Given the description of an element on the screen output the (x, y) to click on. 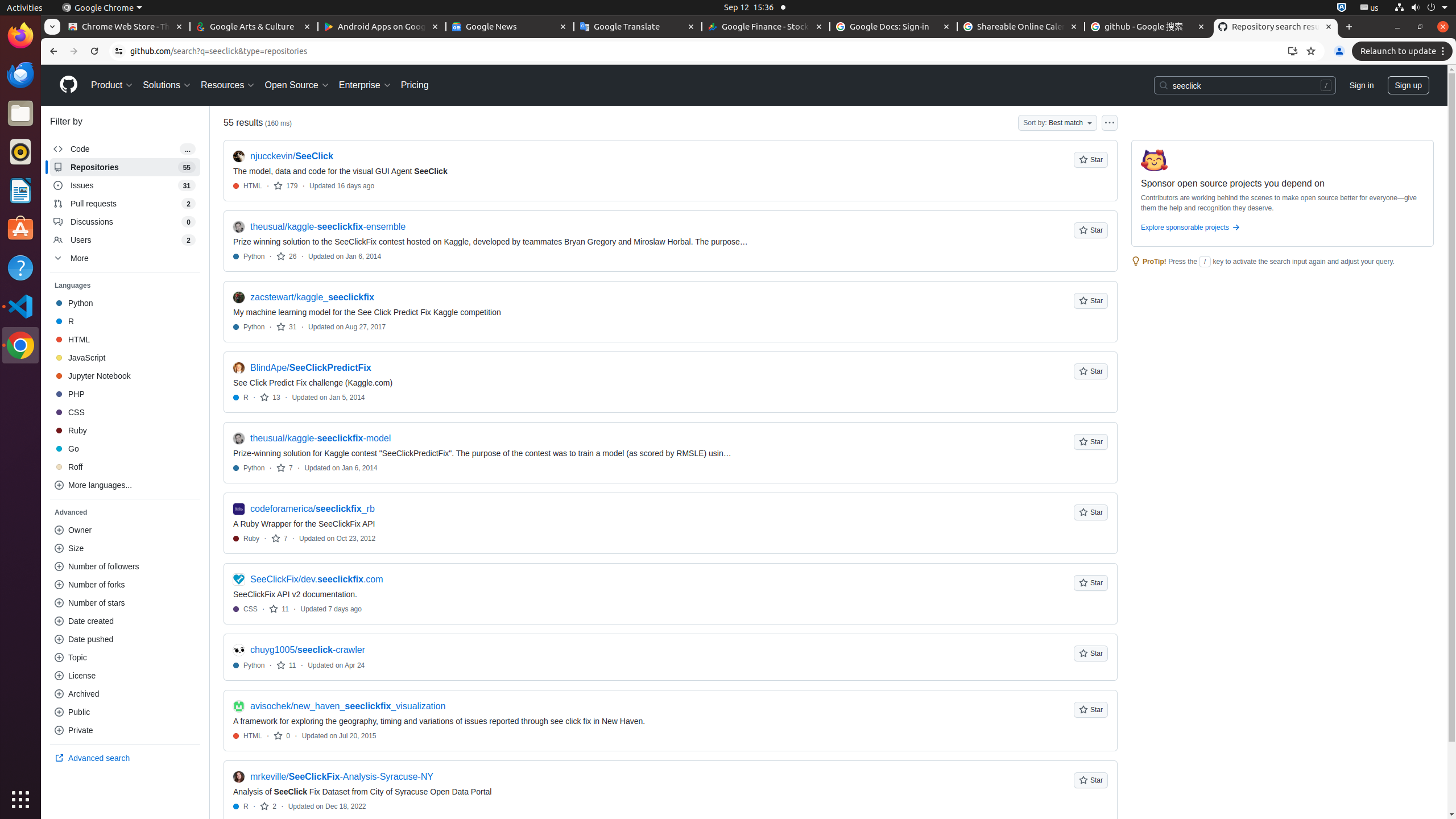
System Element type: menu (1420, 7)
You Element type: push-button (1339, 50)
Advanced search Element type: link (125, 758)
Install GitHub Element type: push-button (1292, 51)
Search or jump to… Element type: push-button (1244, 84)
